Given the description of an element on the screen output the (x, y) to click on. 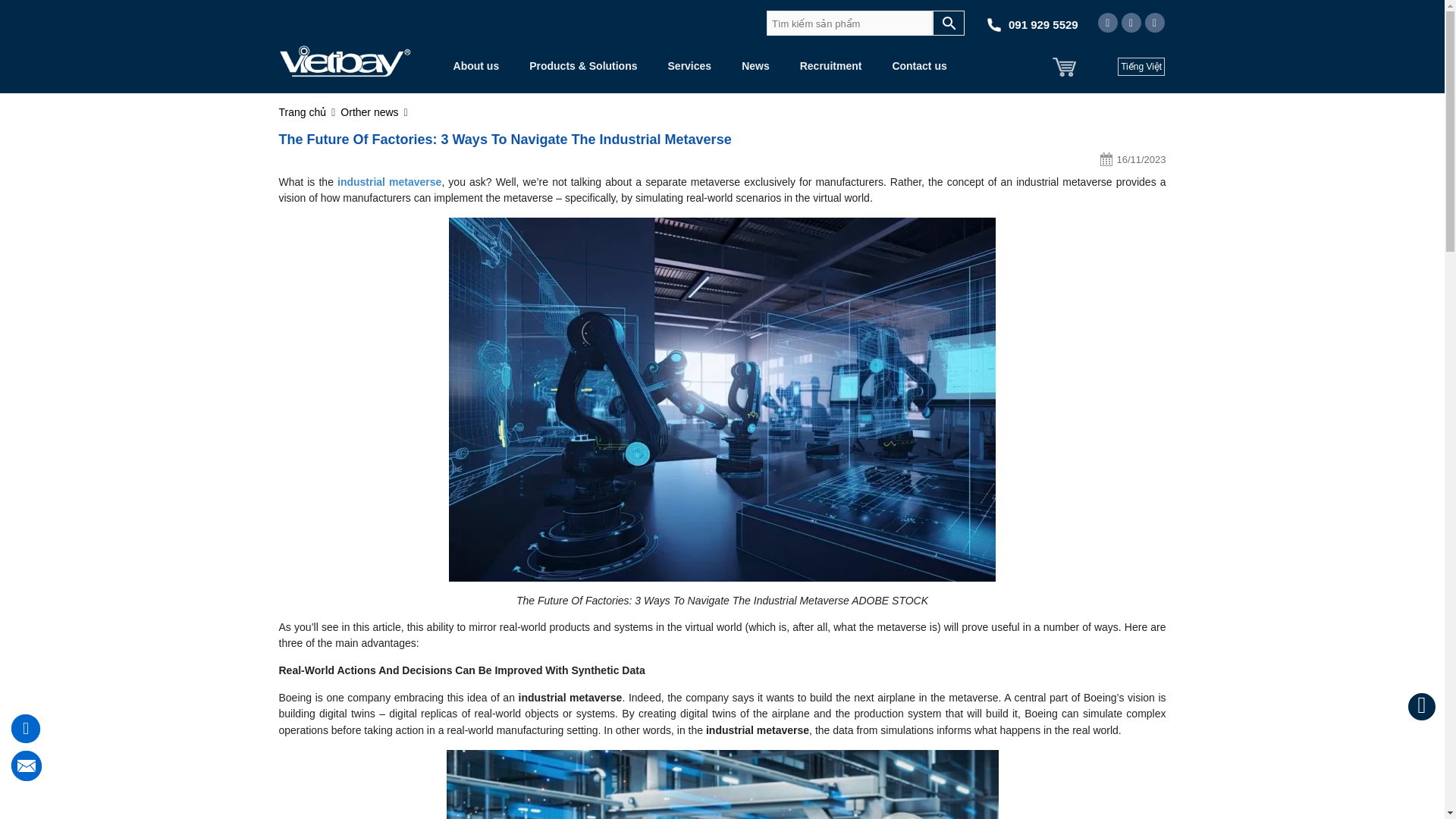
About us (476, 66)
News (755, 66)
Go to Vietbay. (302, 111)
Go to the Orther news category archives. (368, 111)
091 929 5529 (1043, 24)
Services (689, 66)
